Given the description of an element on the screen output the (x, y) to click on. 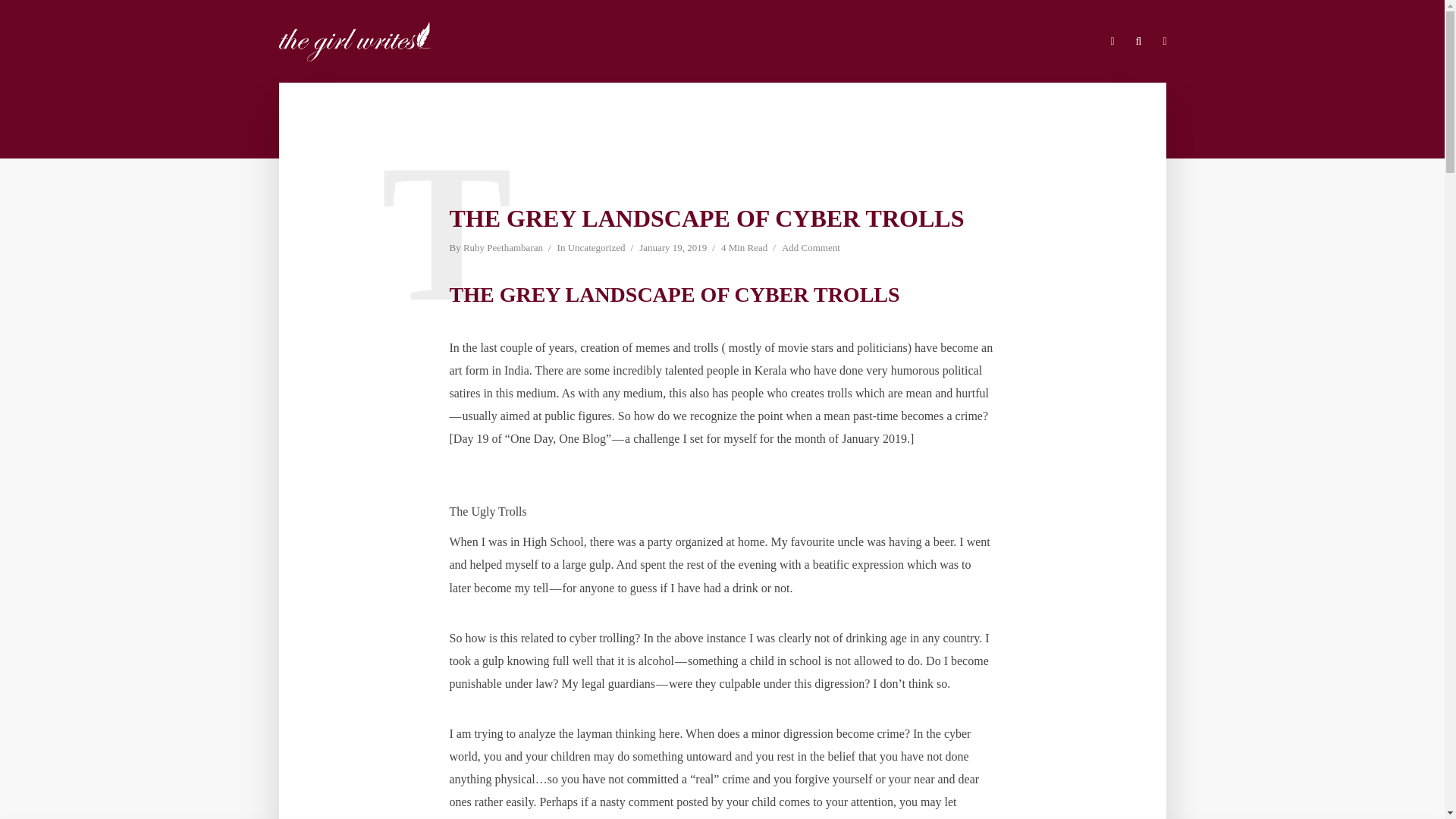
Add Comment (810, 248)
Uncategorized (596, 248)
Ruby Peethambaran (503, 248)
